Given the description of an element on the screen output the (x, y) to click on. 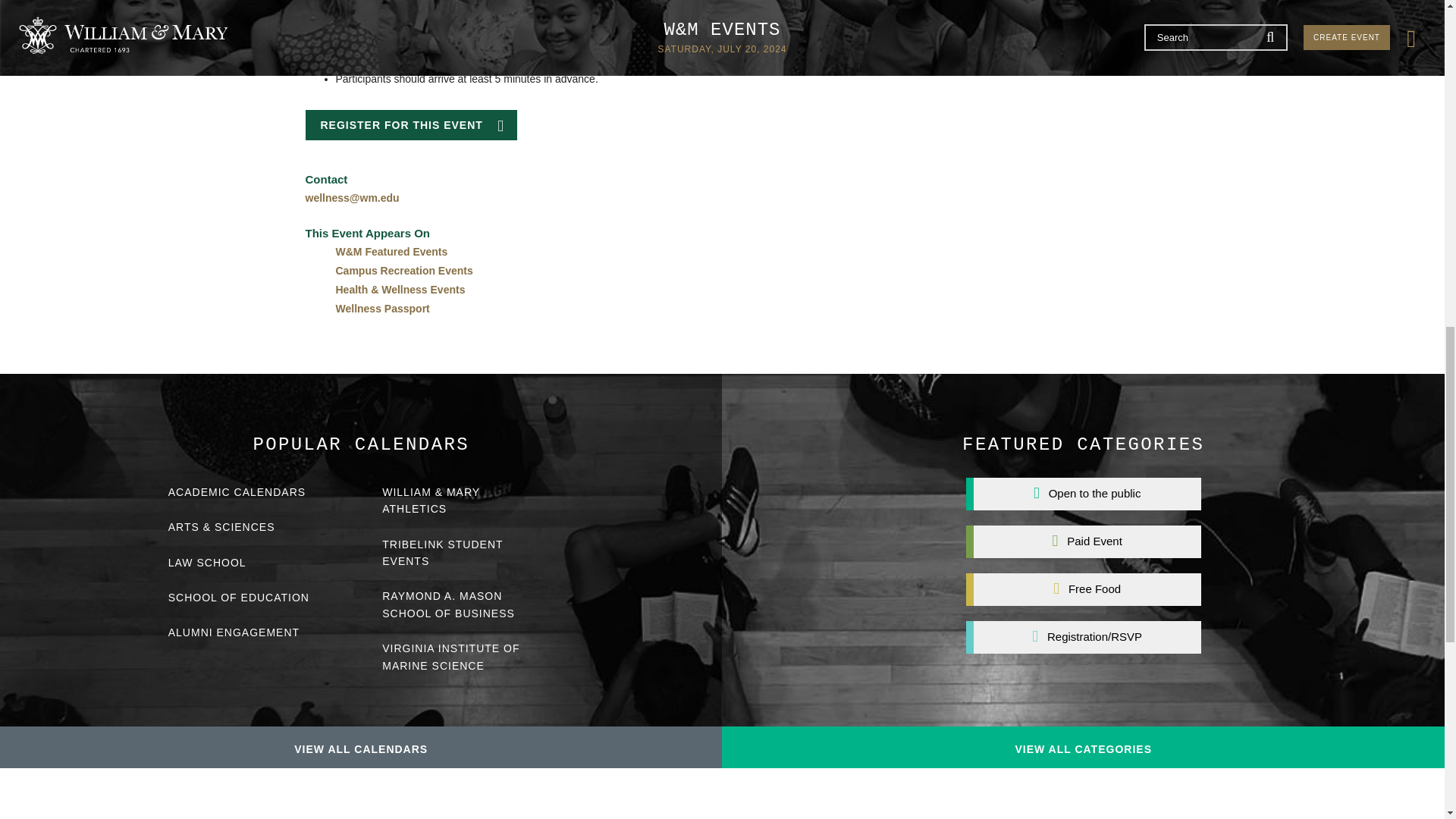
REGISTER FOR THIS EVENT (410, 124)
Campus Recreation Events (402, 270)
pre-register for this class online (508, 15)
Wellness Passport (381, 308)
